Given the description of an element on the screen output the (x, y) to click on. 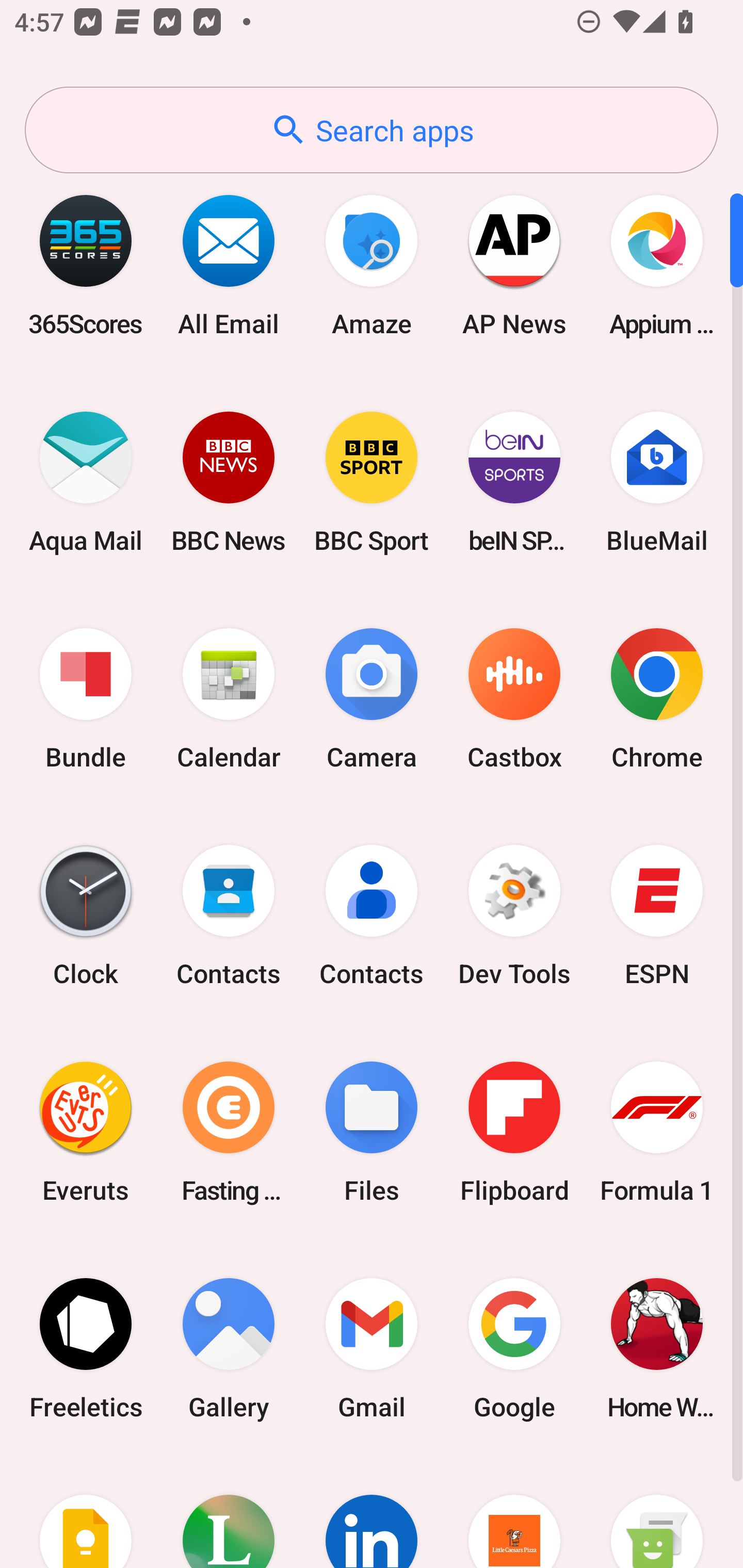
  Search apps (371, 130)
365Scores (85, 264)
All Email (228, 264)
Amaze (371, 264)
AP News (514, 264)
Appium Settings (656, 264)
Aqua Mail (85, 482)
BBC News (228, 482)
BBC Sport (371, 482)
beIN SPORTS (514, 482)
BlueMail (656, 482)
Bundle (85, 699)
Calendar (228, 699)
Camera (371, 699)
Castbox (514, 699)
Chrome (656, 699)
Clock (85, 915)
Contacts (228, 915)
Contacts (371, 915)
Dev Tools (514, 915)
ESPN (656, 915)
Everuts (85, 1131)
Fasting Coach (228, 1131)
Files (371, 1131)
Flipboard (514, 1131)
Formula 1 (656, 1131)
Freeletics (85, 1348)
Gallery (228, 1348)
Gmail (371, 1348)
Google (514, 1348)
Home Workout (656, 1348)
Keep Notes (85, 1512)
Lifesum (228, 1512)
LinkedIn (371, 1512)
Little Caesars Pizza (514, 1512)
Messaging (656, 1512)
